Given the description of an element on the screen output the (x, y) to click on. 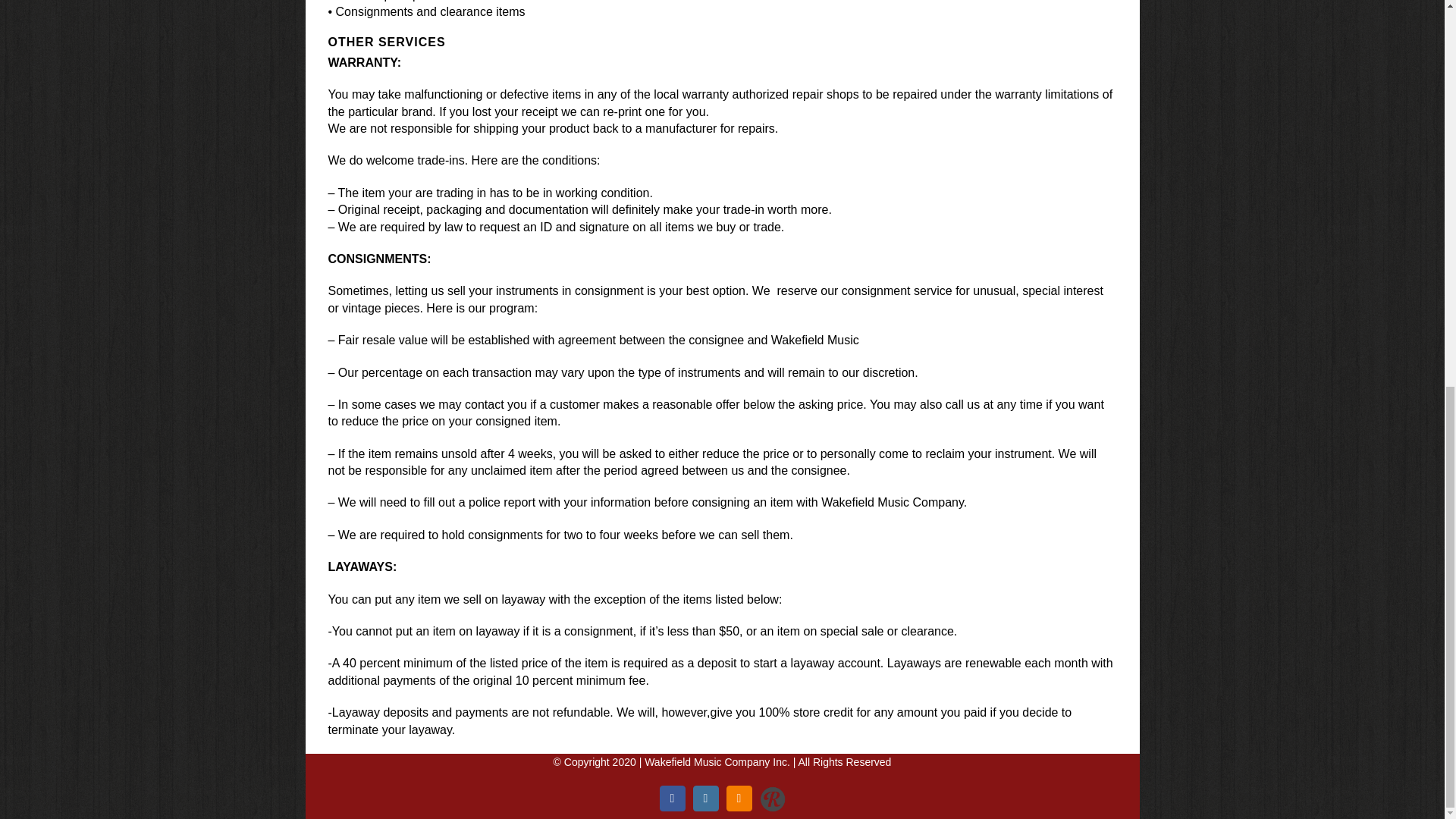
Reverb (773, 789)
Blogger (739, 798)
Reverb (773, 789)
Facebook (672, 798)
Instagram (706, 798)
Facebook (672, 798)
Blogger (739, 798)
Instagram (706, 798)
